Given the description of an element on the screen output the (x, y) to click on. 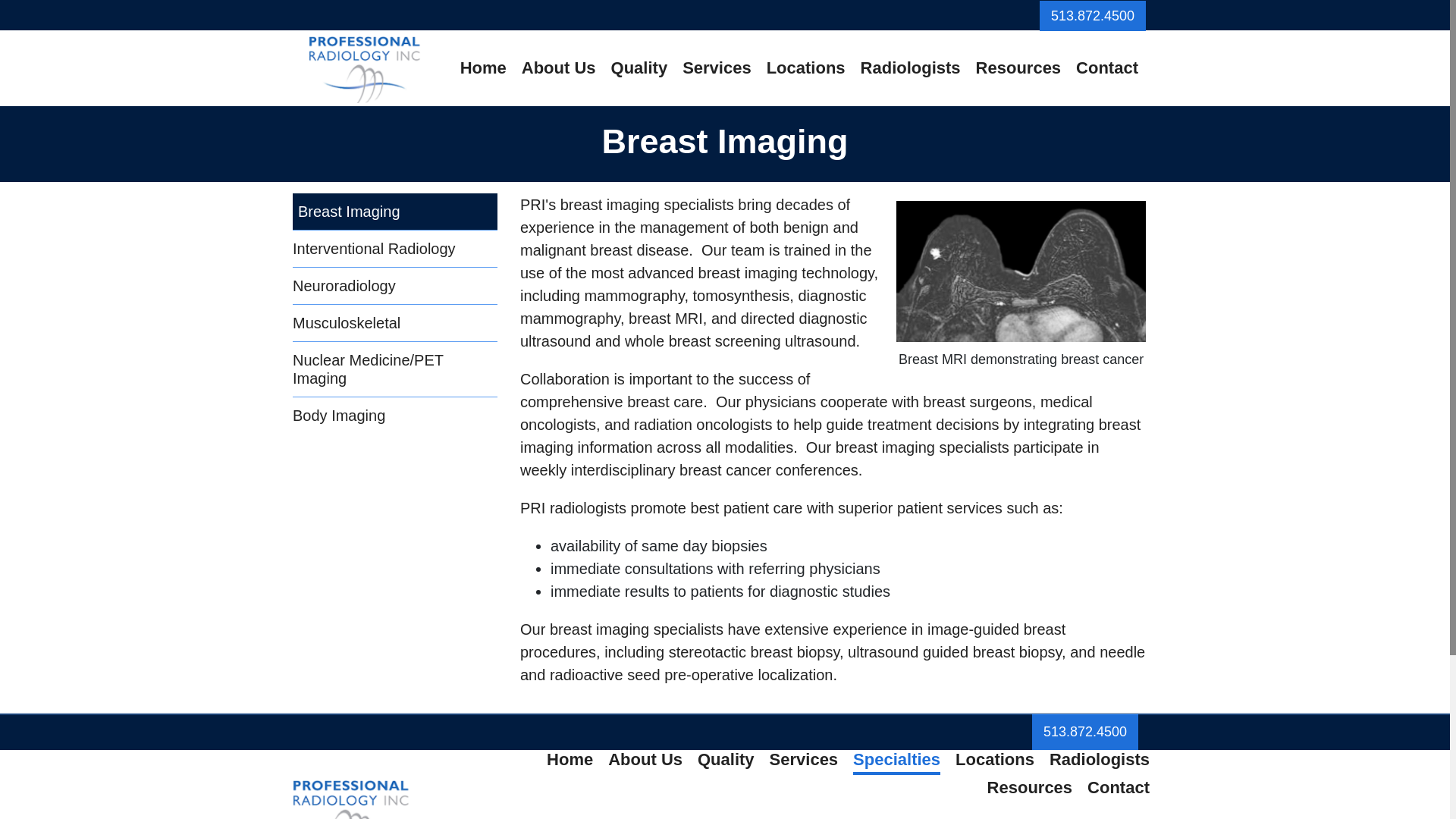
Locations (805, 68)
Services (716, 68)
Neuroradiology (394, 284)
Interventional Radiology (394, 248)
About Us (558, 68)
External Link (1092, 15)
Contact (1106, 68)
Quality (639, 68)
Resources (1018, 68)
External Link (1085, 732)
